Given the description of an element on the screen output the (x, y) to click on. 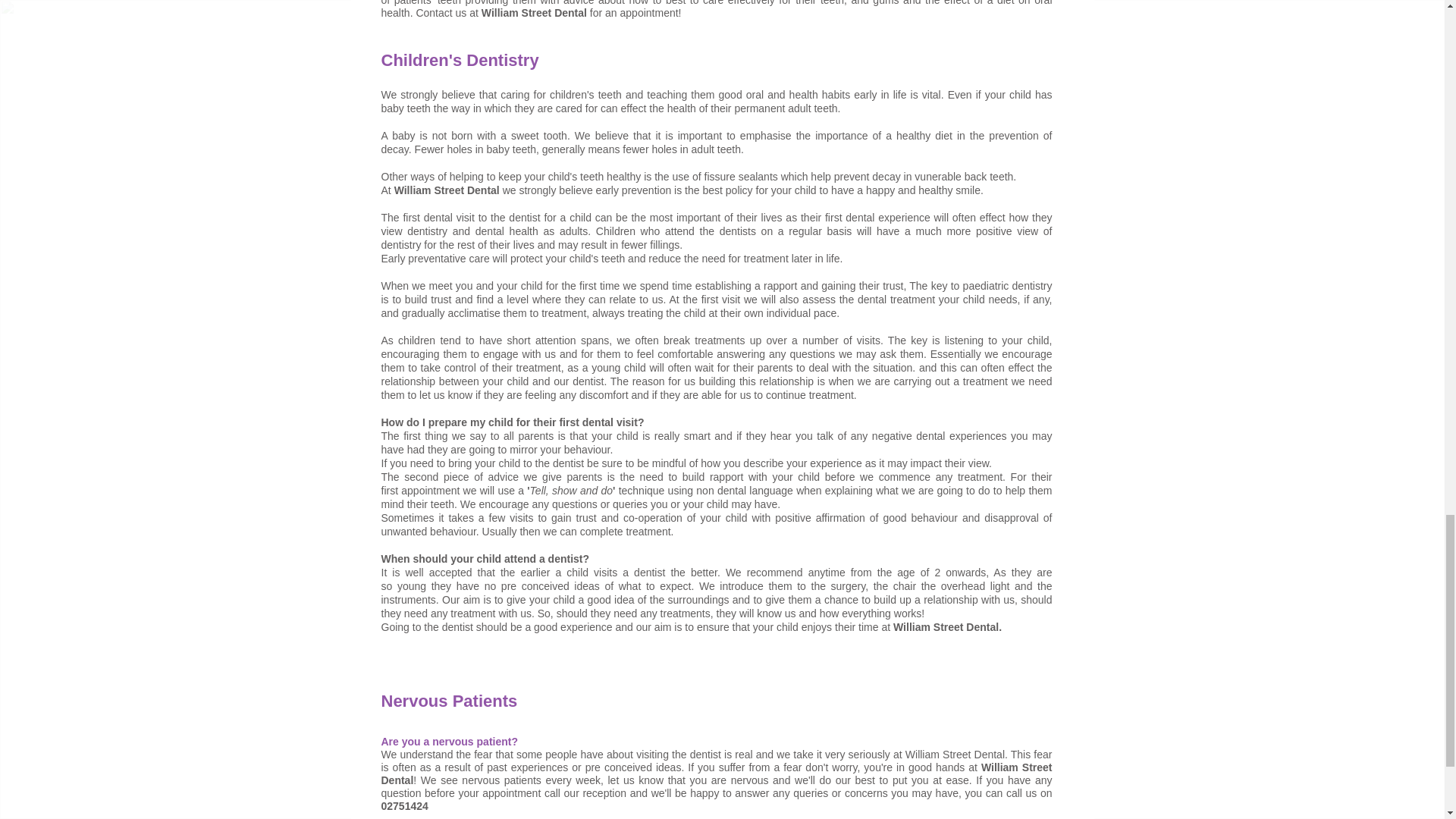
02751424 (404, 806)
